Given the description of an element on the screen output the (x, y) to click on. 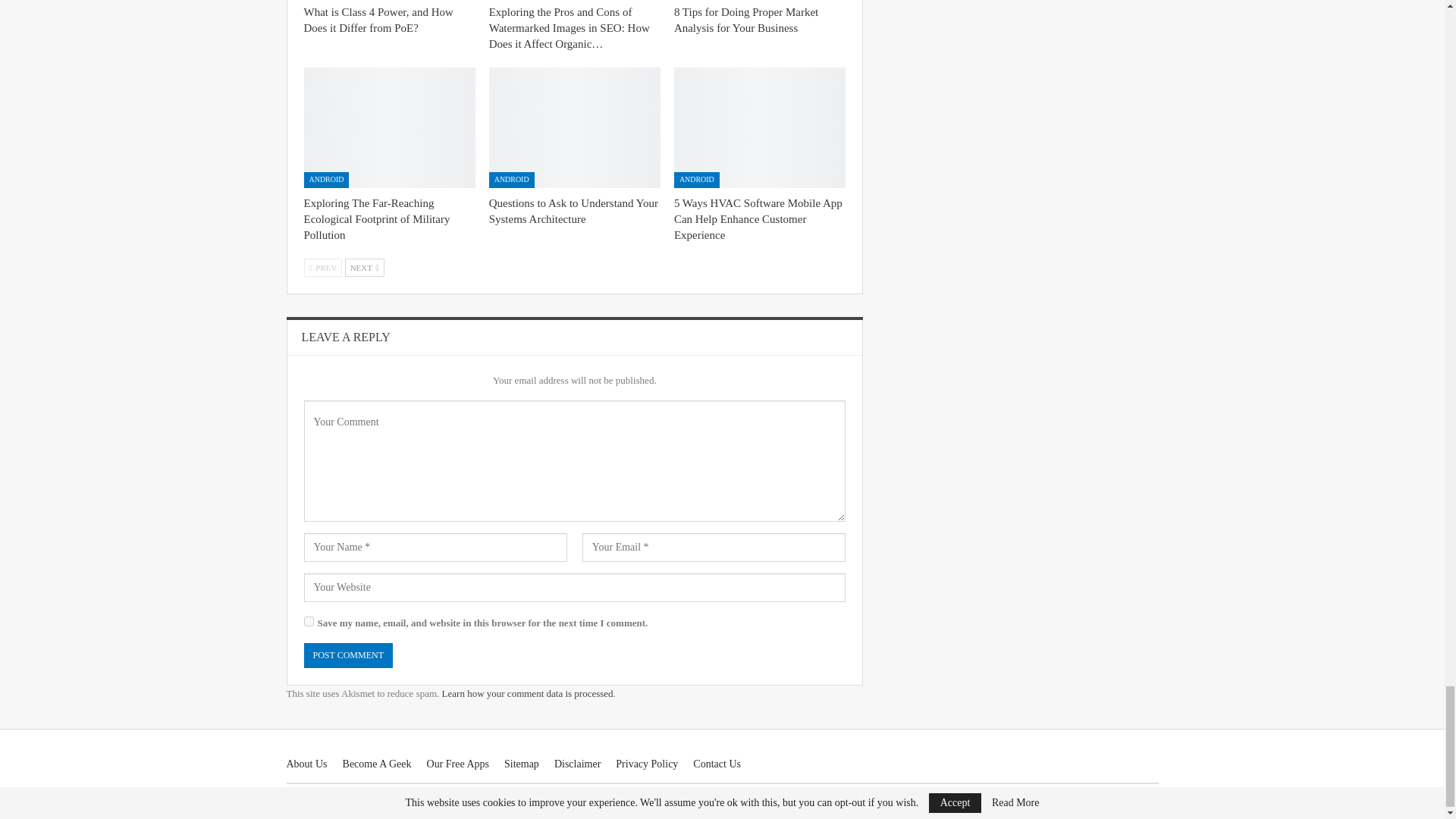
yes (307, 621)
What is Class 4 Power, and How Does it Differ from PoE? (377, 19)
Post Comment (346, 655)
